Given the description of an element on the screen output the (x, y) to click on. 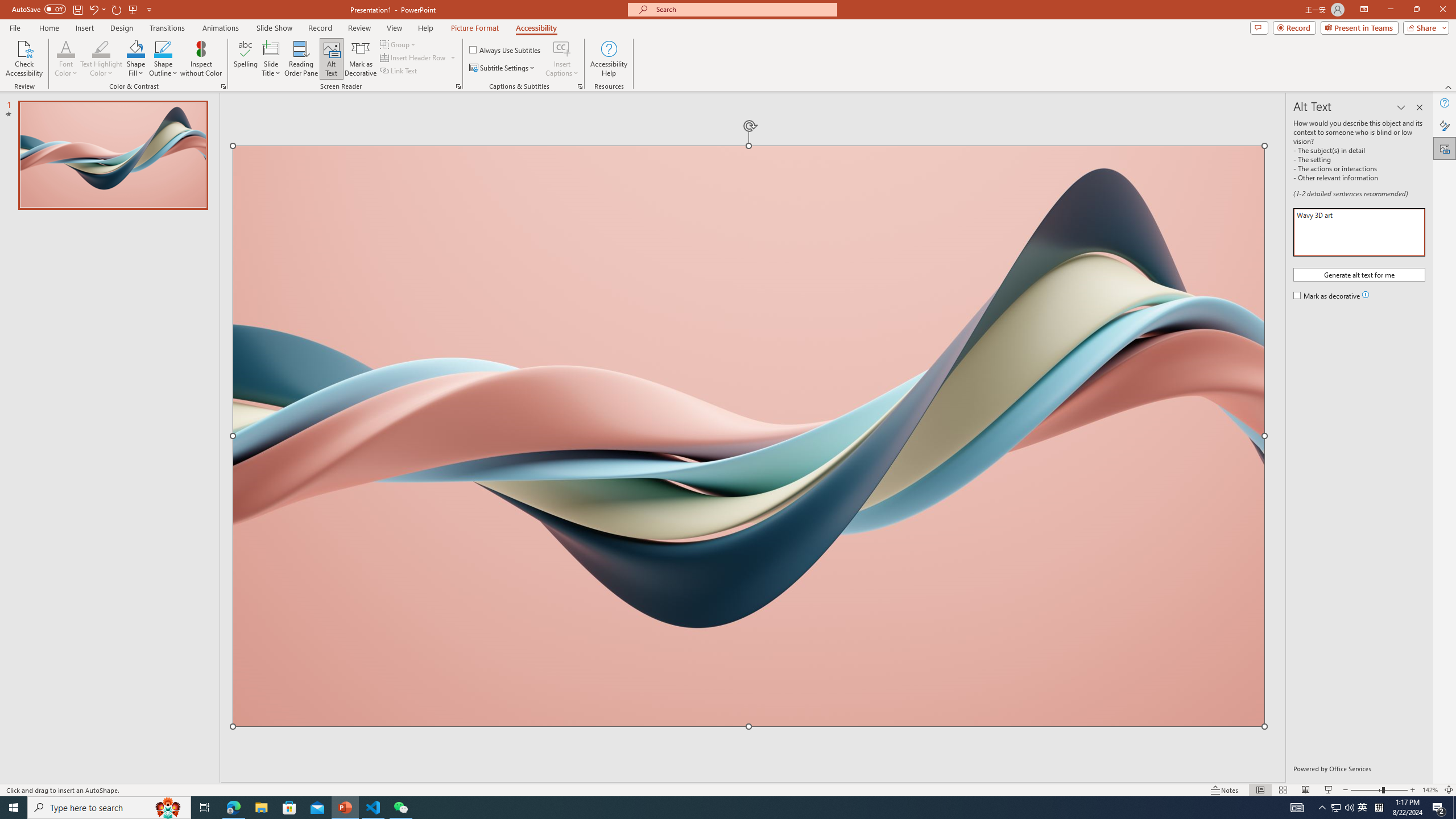
Mark as Decorative (360, 58)
Subtitle Settings (502, 67)
